Given the description of an element on the screen output the (x, y) to click on. 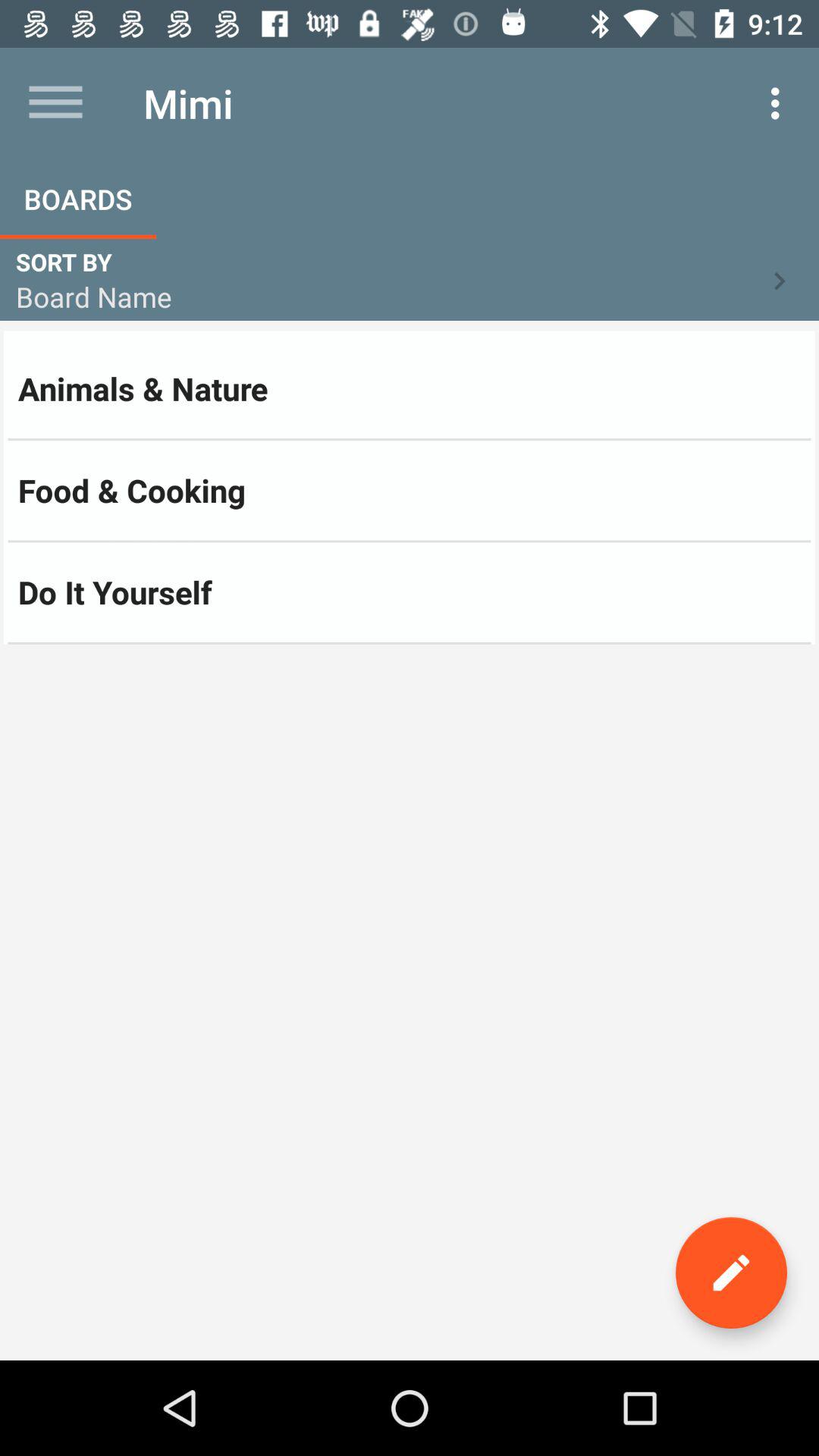
turn off item to the right of mimi (779, 103)
